Given the description of an element on the screen output the (x, y) to click on. 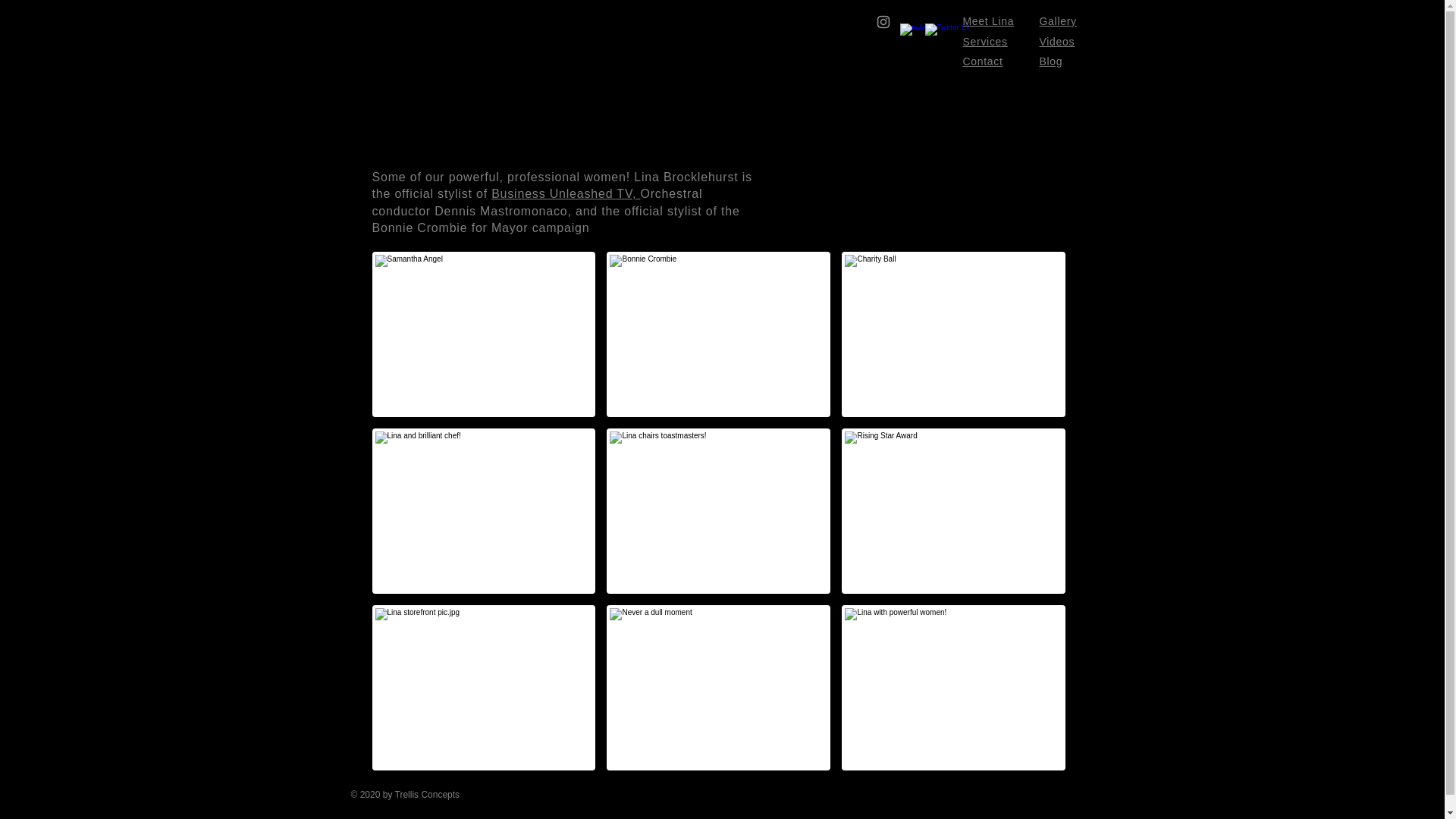
Services (984, 41)
Videos (1056, 41)
Business Unleashed TV, (566, 193)
Facebook Like (994, 803)
Contact (982, 61)
Meet Lina (988, 21)
Blog (1050, 61)
Gallery (1057, 21)
